Given the description of an element on the screen output the (x, y) to click on. 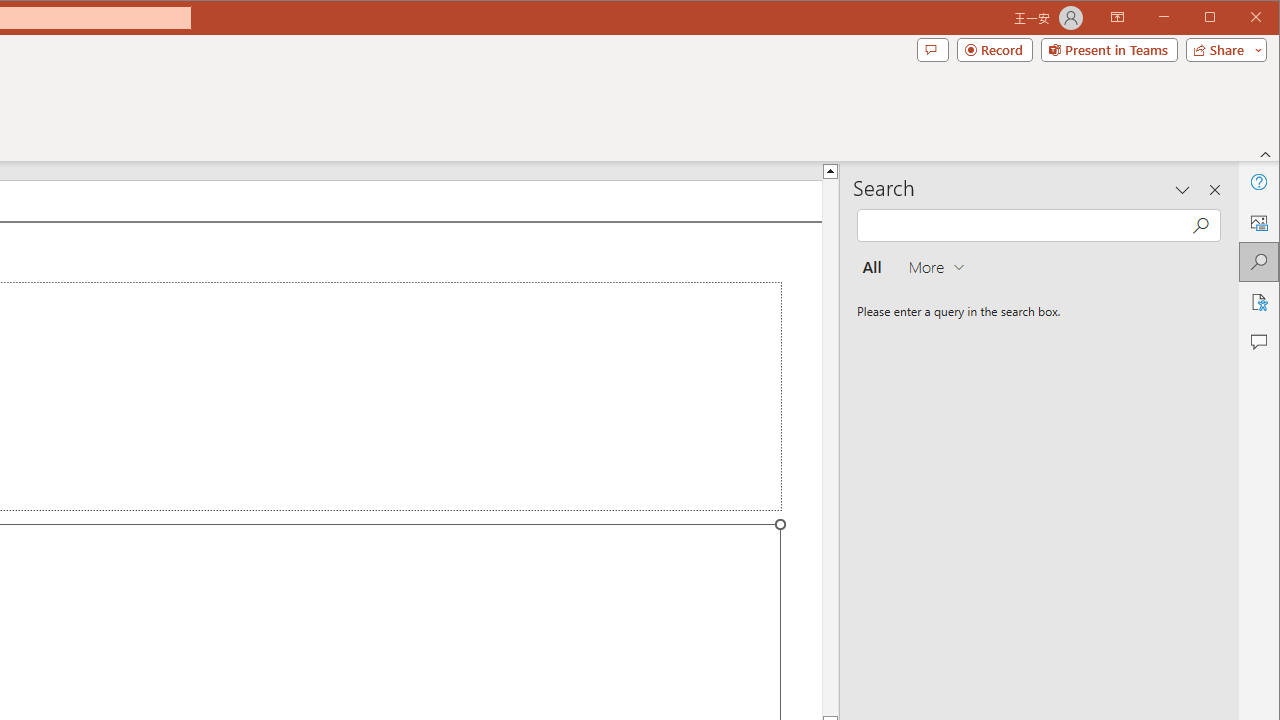
Maximize (1238, 18)
Alt Text (1258, 221)
